Given the description of an element on the screen output the (x, y) to click on. 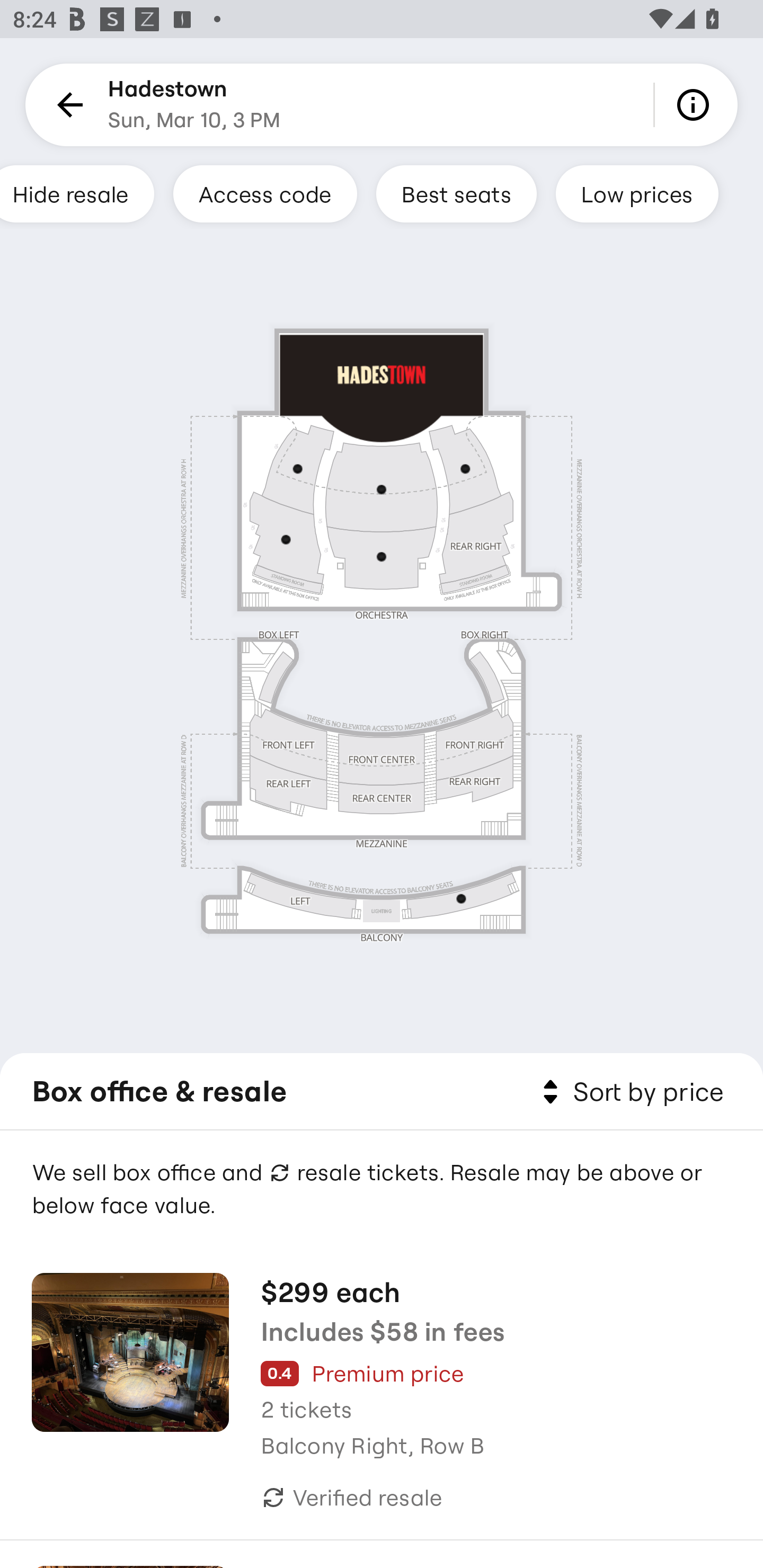
Back (66, 104)
Hadestown Sun, Mar 10, 3 PM (194, 104)
Info (695, 104)
Hide resale (77, 193)
Access code (265, 193)
Best seats (456, 193)
Low prices (636, 193)
Sort by price (629, 1091)
